Given the description of an element on the screen output the (x, y) to click on. 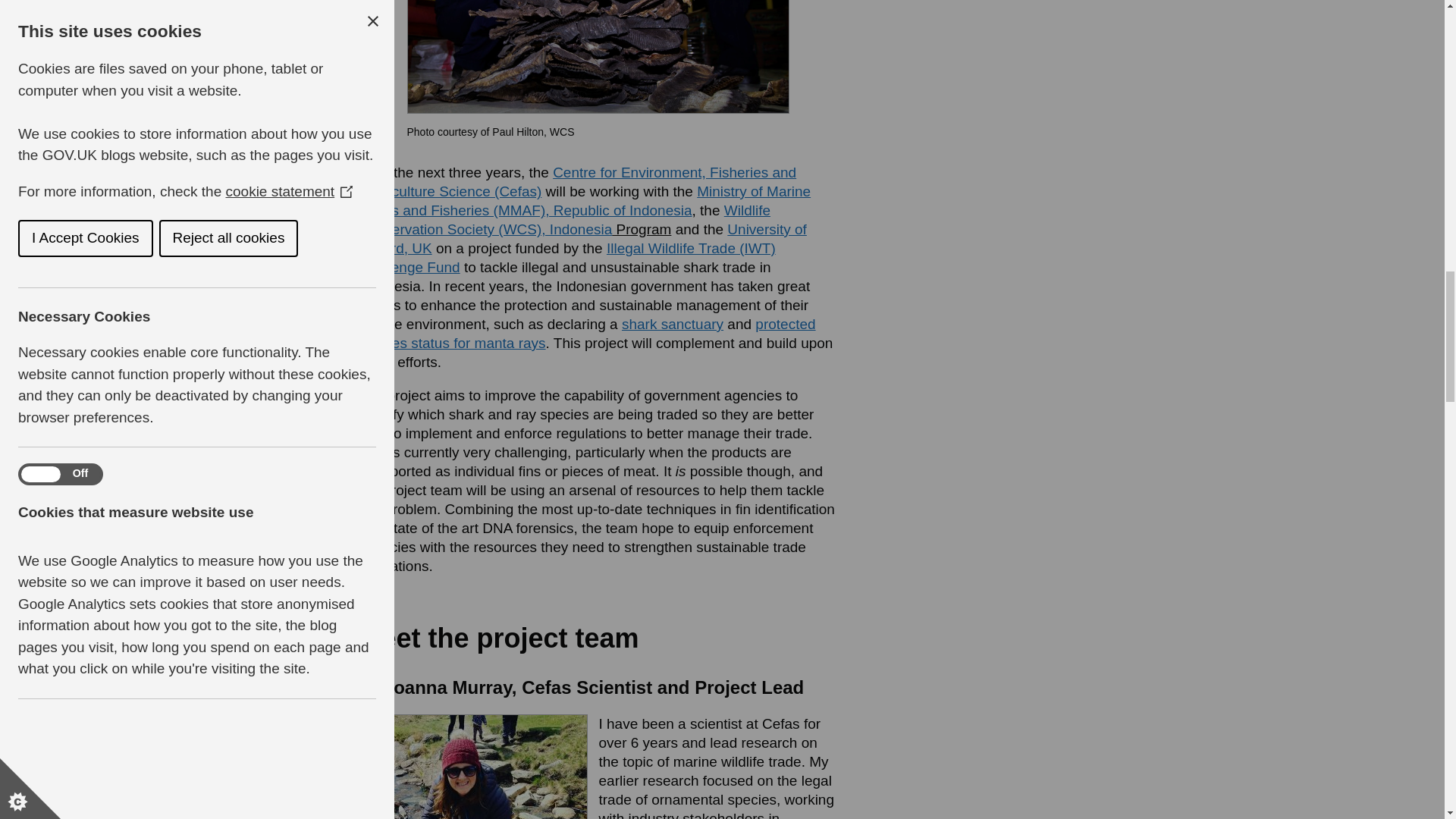
University of Salford, UK (582, 238)
protected species status for manta rays (586, 333)
shark sanctuary (672, 324)
